Given the description of an element on the screen output the (x, y) to click on. 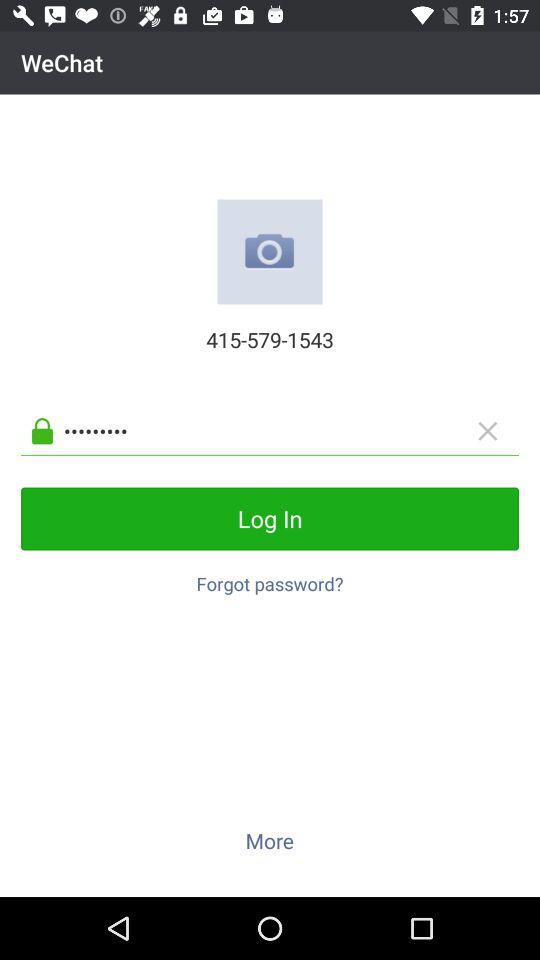
choose forgot password? button (269, 578)
